Given the description of an element on the screen output the (x, y) to click on. 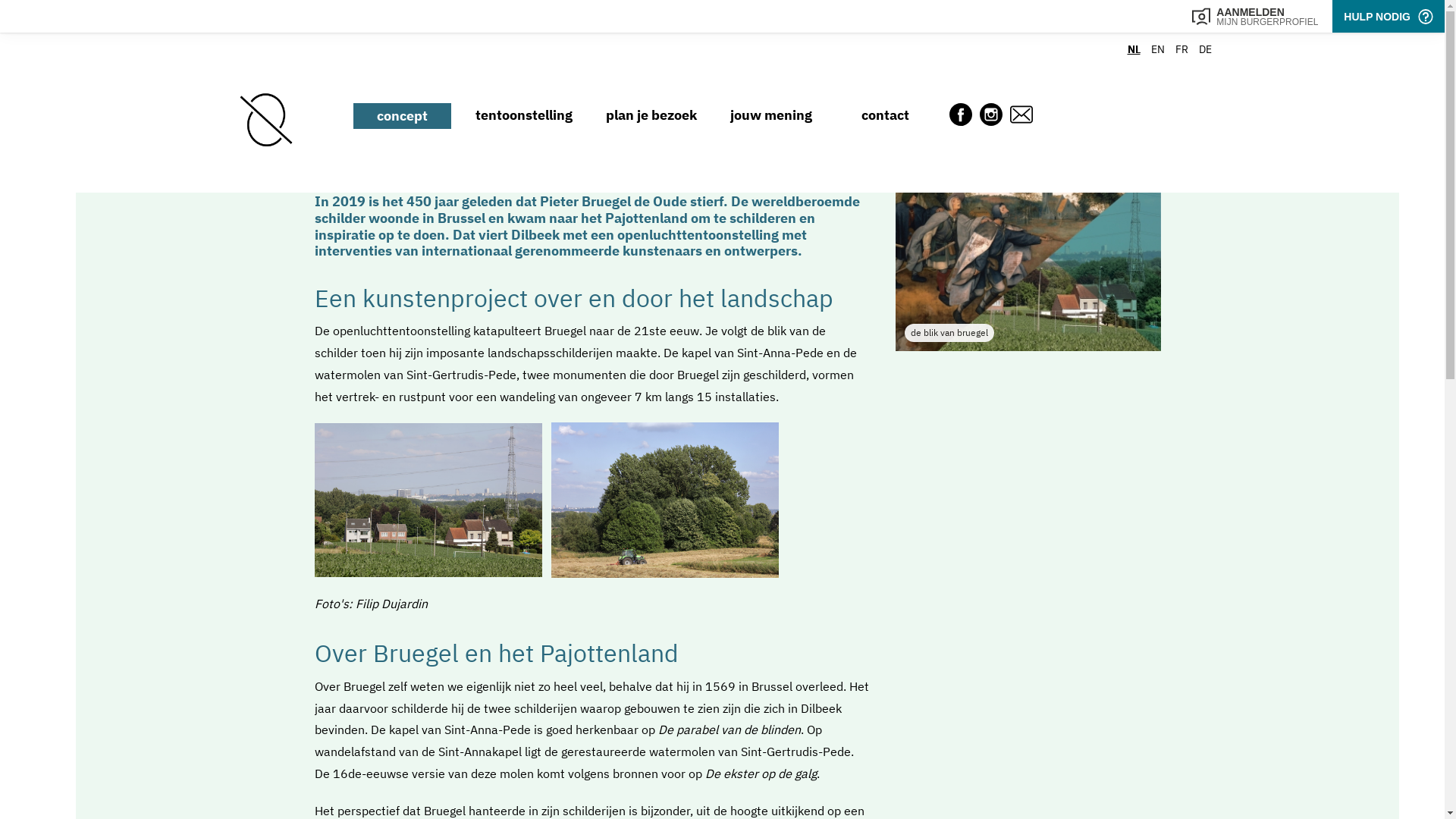
FR Element type: text (1181, 49)
plan je bezoek Element type: text (651, 115)
jouw mening Element type: text (771, 115)
contact Element type: text (885, 115)
tentoonstelling Element type: text (523, 115)
HULP NODIG Element type: text (1388, 16)
De Blik van Bruegel Element type: hover (1027, 257)
AANMELDEN
MIJN BURGERPROFIEL Element type: text (1254, 16)
NL Element type: text (1132, 49)
EN Element type: text (1157, 49)
concept Element type: text (402, 115)
DE Element type: text (1204, 49)
Home Element type: hover (264, 110)
